Given the description of an element on the screen output the (x, y) to click on. 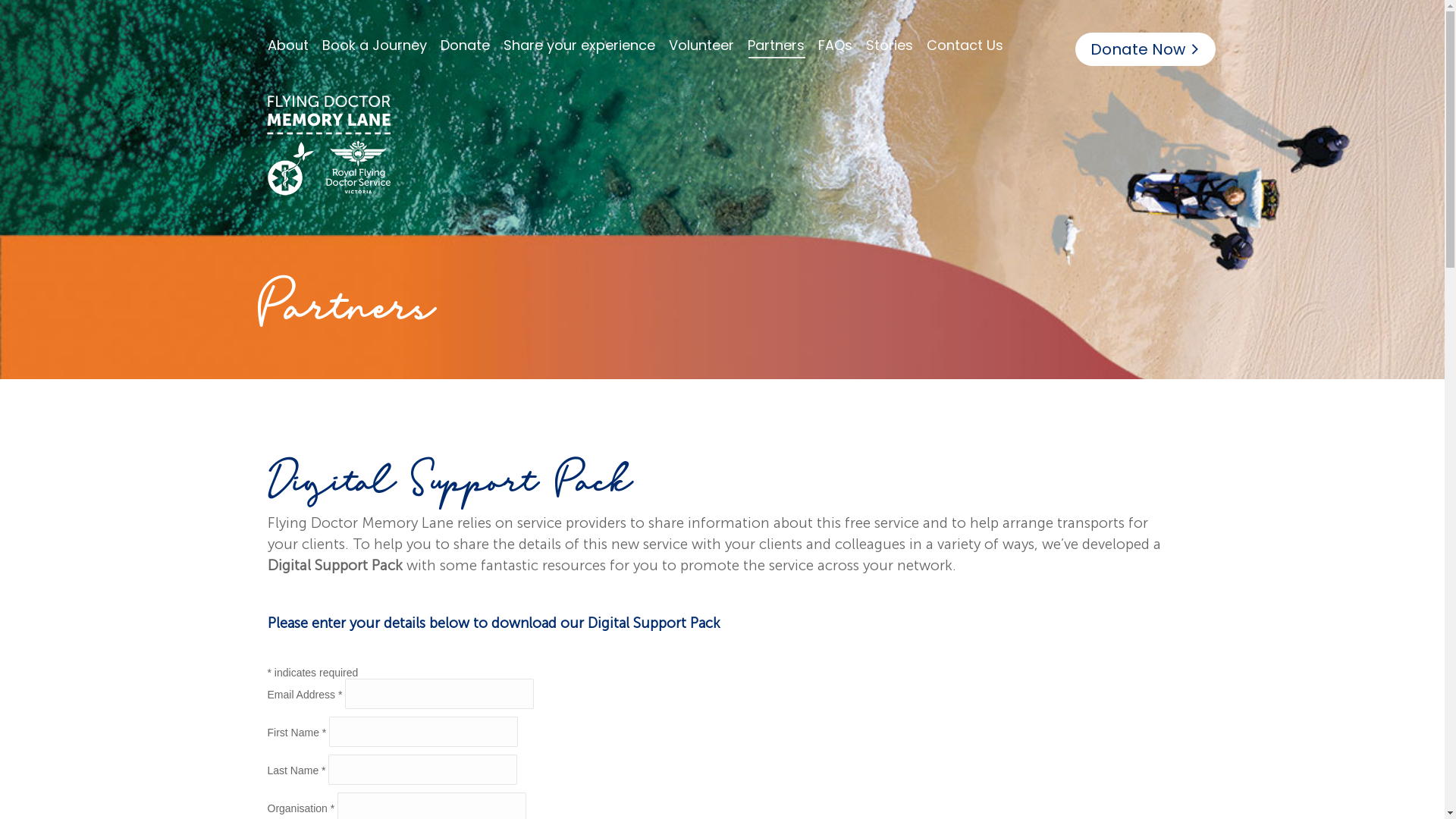
About Element type: text (288, 45)
Volunteer Element type: text (702, 45)
Donate Element type: text (465, 45)
Donate Now Element type: text (1145, 48)
Stories Element type: text (891, 45)
FAQs Element type: text (835, 45)
Book a Journey Element type: text (375, 45)
Share your experience Element type: text (580, 45)
Contact Us Element type: text (966, 45)
Partners Element type: text (777, 45)
